Given the description of an element on the screen output the (x, y) to click on. 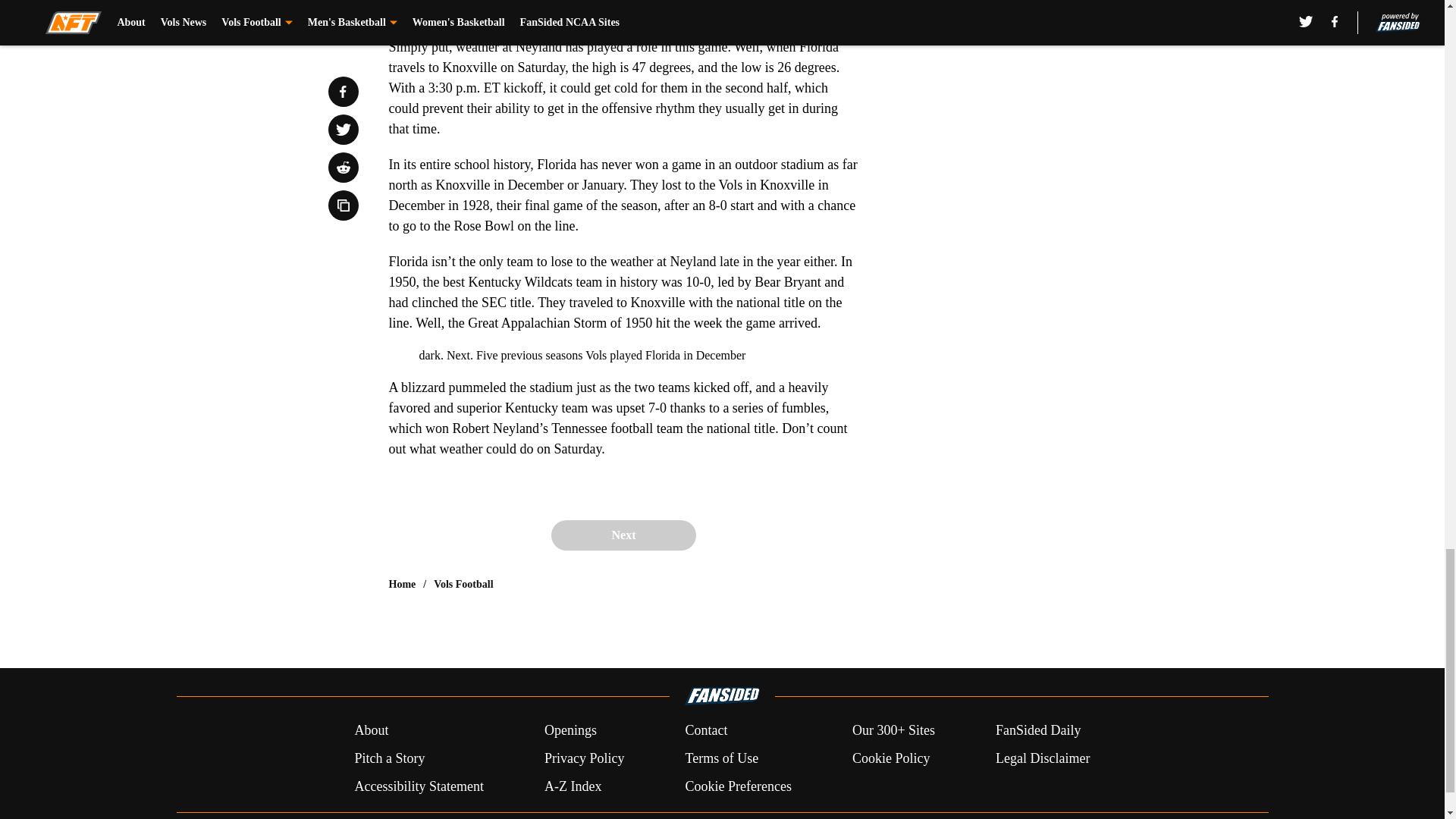
Next (622, 535)
Home (401, 584)
Contact (705, 730)
About (370, 730)
Pitch a Story (389, 758)
Vols Football (463, 584)
Openings (570, 730)
FanSided Daily (1038, 730)
Privacy Policy (584, 758)
